Given the description of an element on the screen output the (x, y) to click on. 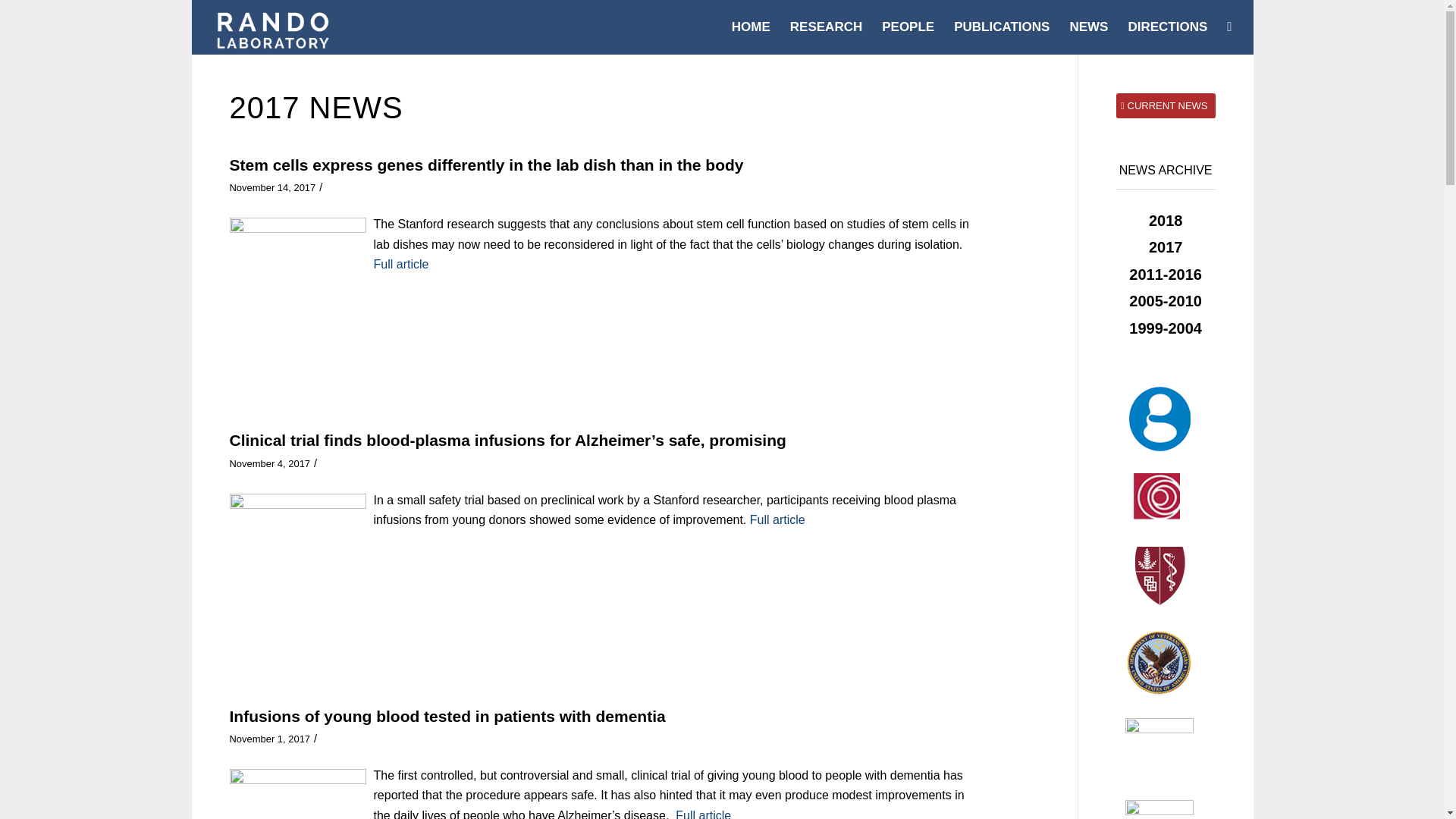
RESEARCH (826, 27)
PUBLICATIONS (1001, 27)
PEOPLE (907, 27)
HOME (751, 27)
Infusions of young blood tested in patients with dementia (446, 715)
Full article (400, 264)
Full article (701, 814)
Full article (775, 519)
